Given the description of an element on the screen output the (x, y) to click on. 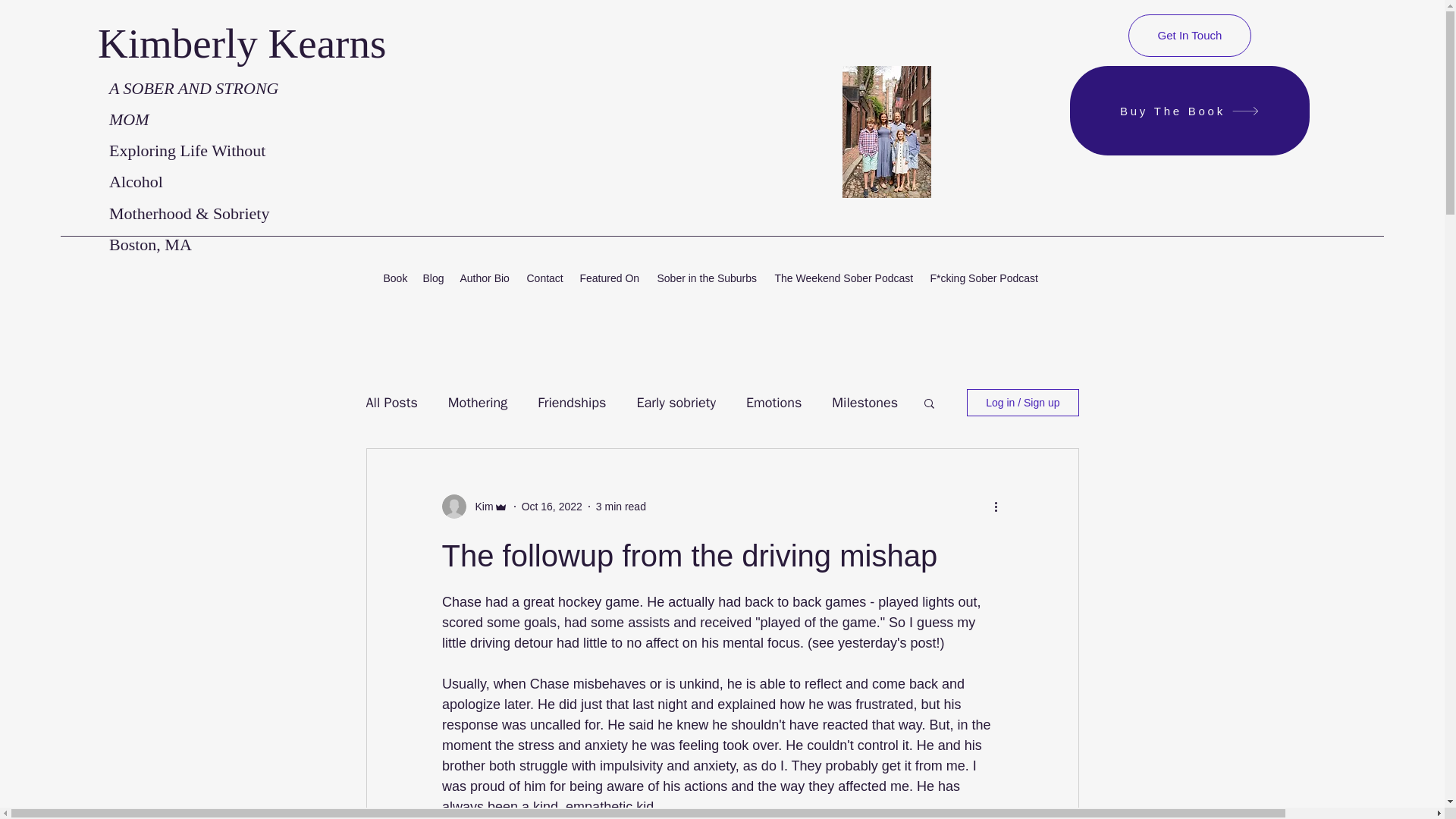
Kimberly Kearns (241, 43)
Milestones (864, 402)
Contact (545, 278)
Get In Touch (1189, 35)
Buy The Book (1189, 110)
Author Bio (484, 278)
Sober in the Suburbs (708, 278)
Kim  (479, 506)
Emotions (773, 402)
A SOBER AND STRONG MOM (193, 103)
Oct 16, 2022 (551, 506)
Mothering (477, 402)
Blog (433, 278)
The Weekend Sober Podcast (845, 278)
Featured On (610, 278)
